Given the description of an element on the screen output the (x, y) to click on. 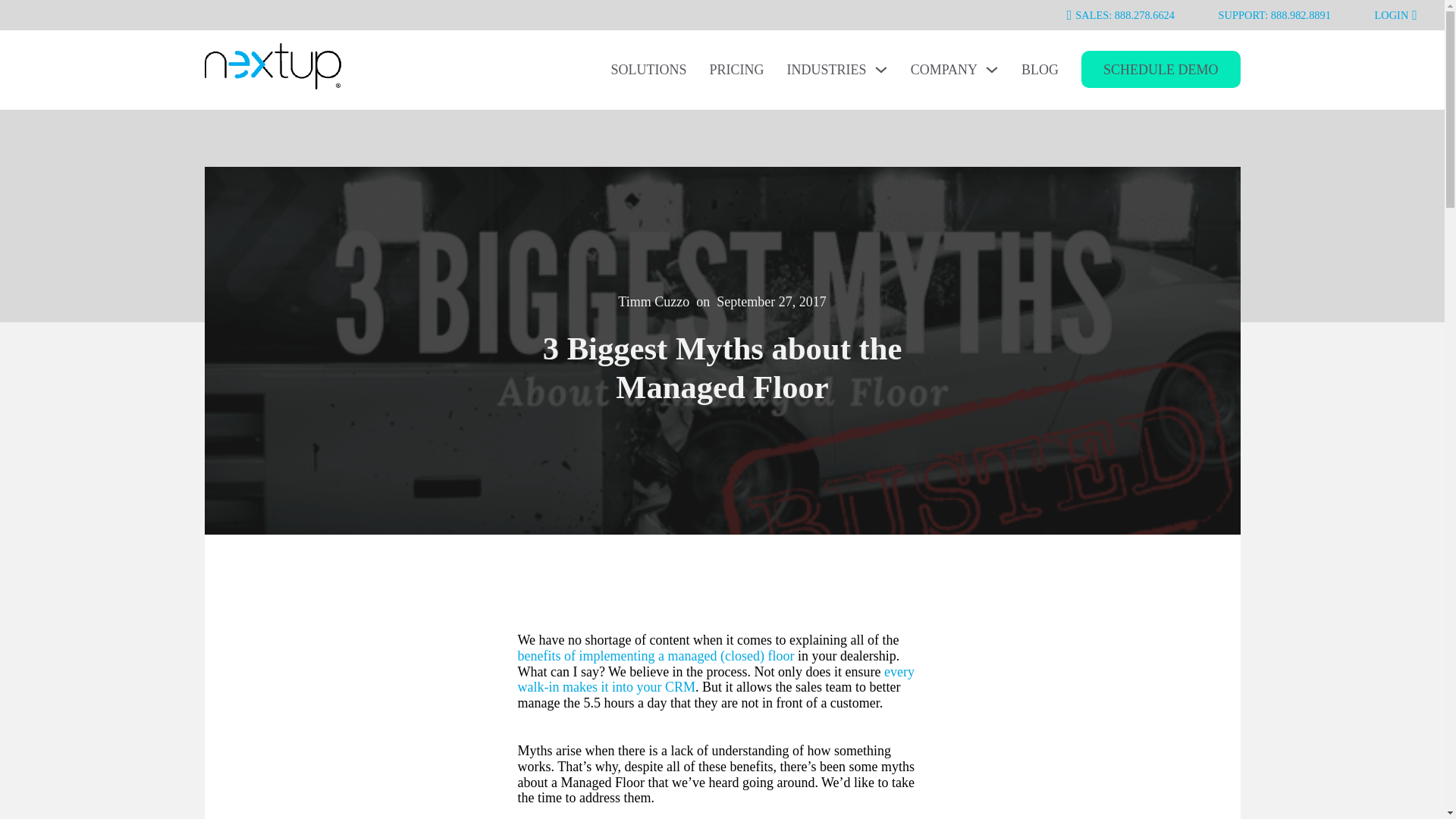
SALES: 888.278.6624 (1120, 15)
SOLUTIONS (649, 69)
COMPANY (943, 69)
every walk-in makes it into your CRM (715, 679)
SUPPORT: 888.982.8891 (1274, 15)
LOGIN (1395, 15)
INDUSTRIES (826, 69)
PRICING (737, 69)
BLOG (1040, 69)
SCHEDULE DEMO (1160, 68)
